Given the description of an element on the screen output the (x, y) to click on. 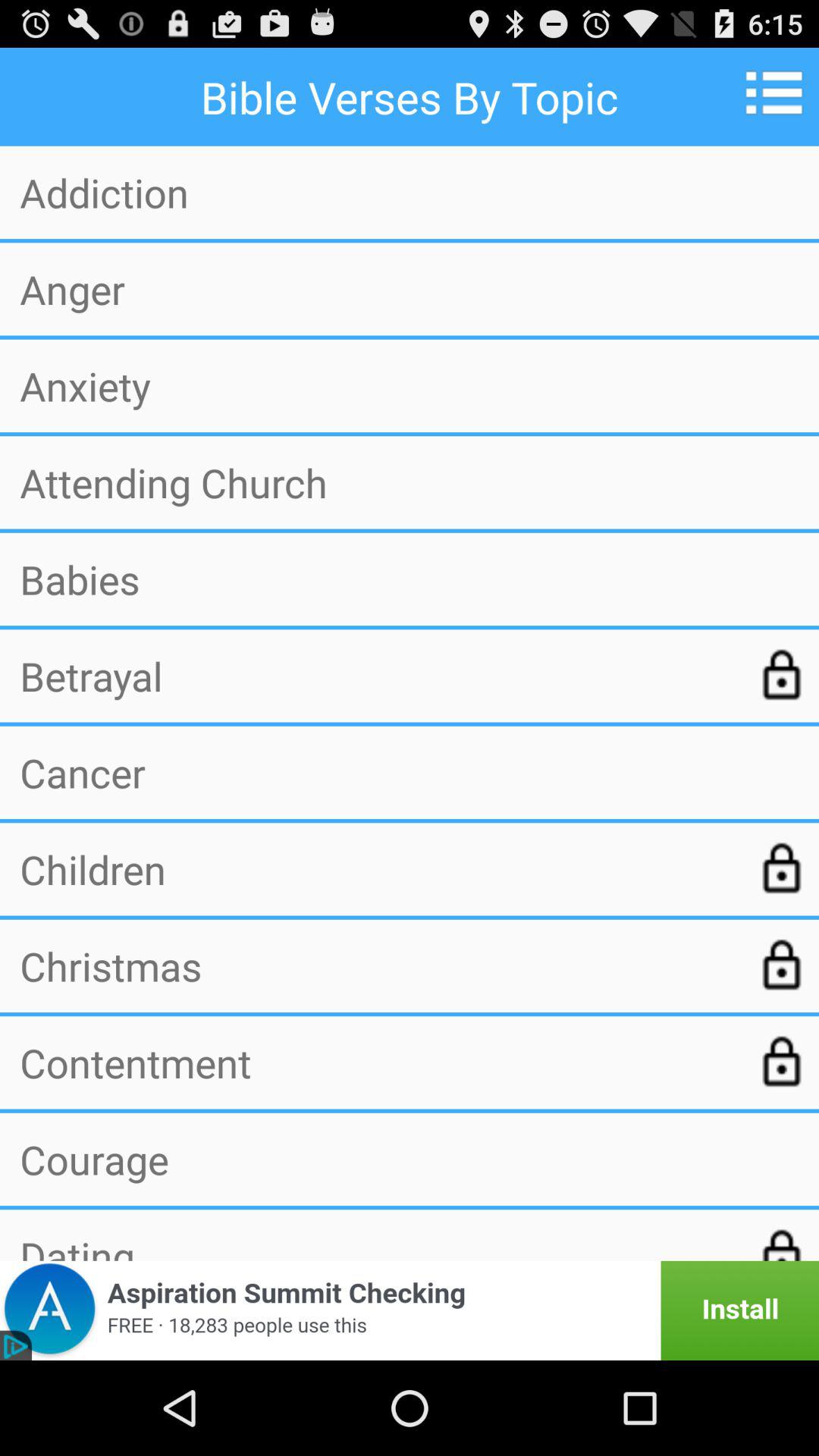
launch the christmas app (376, 965)
